Given the description of an element on the screen output the (x, y) to click on. 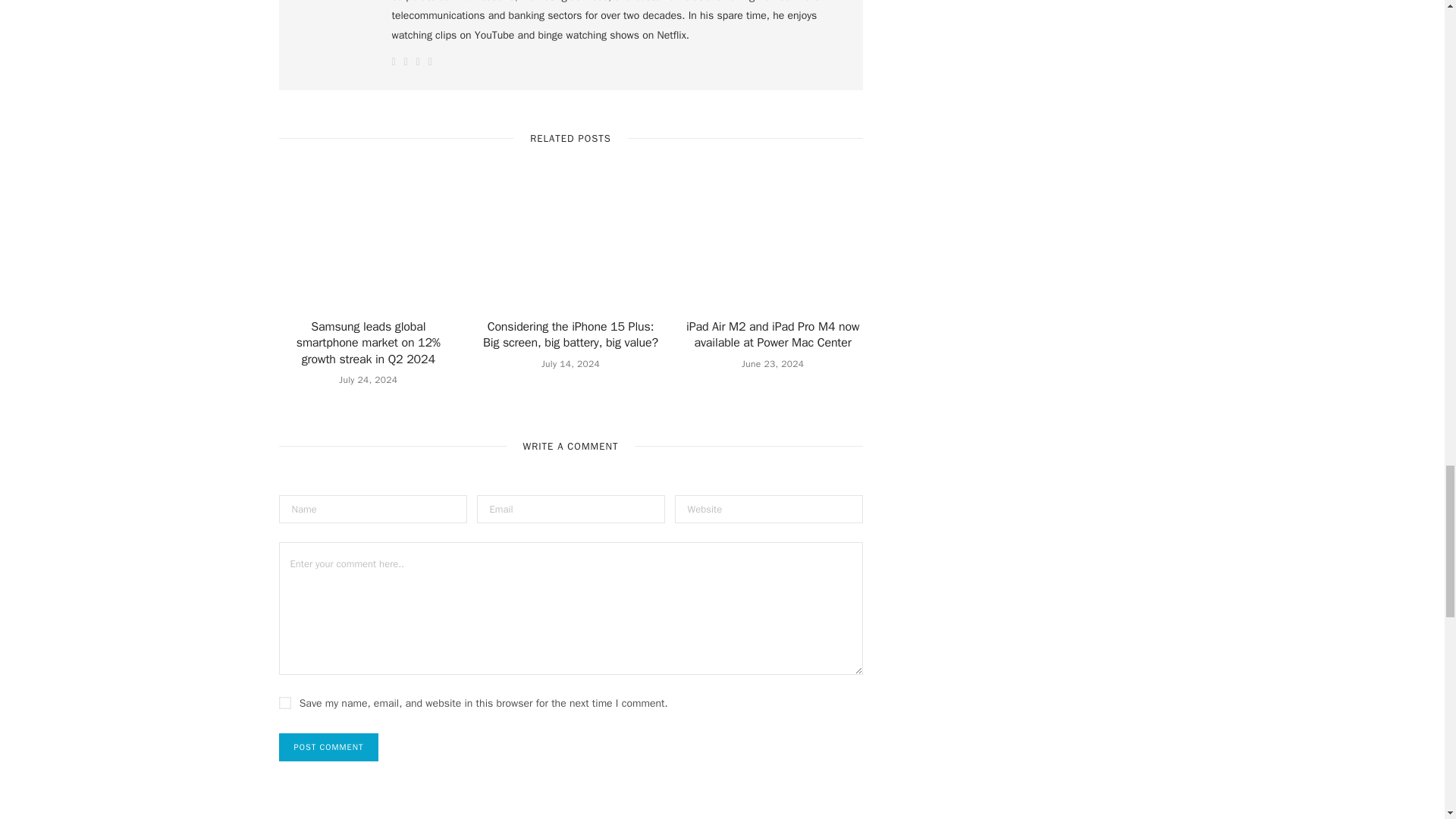
Post Comment (328, 747)
yes (285, 702)
